Given the description of an element on the screen output the (x, y) to click on. 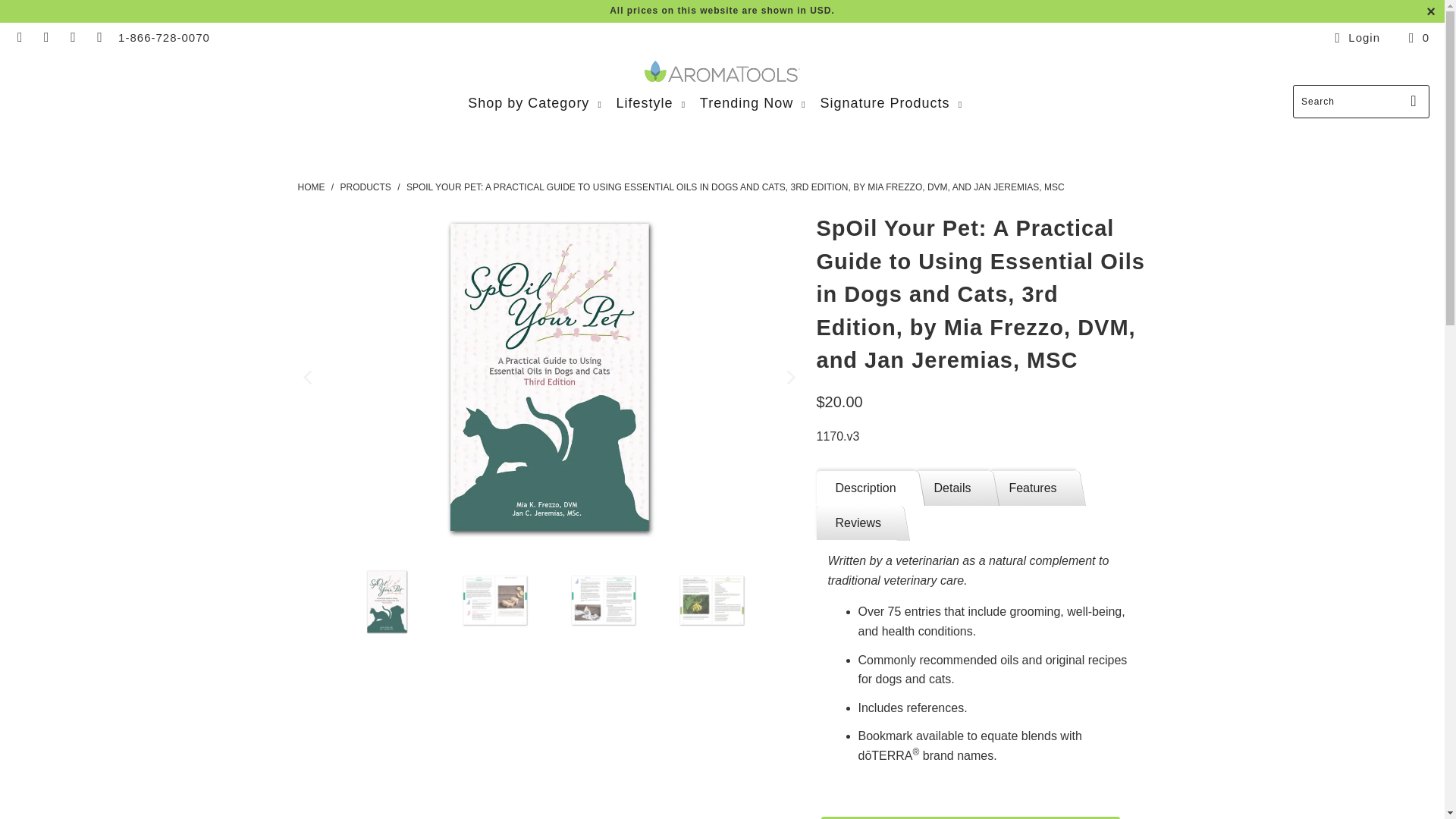
My Account  (1354, 37)
